Given the description of an element on the screen output the (x, y) to click on. 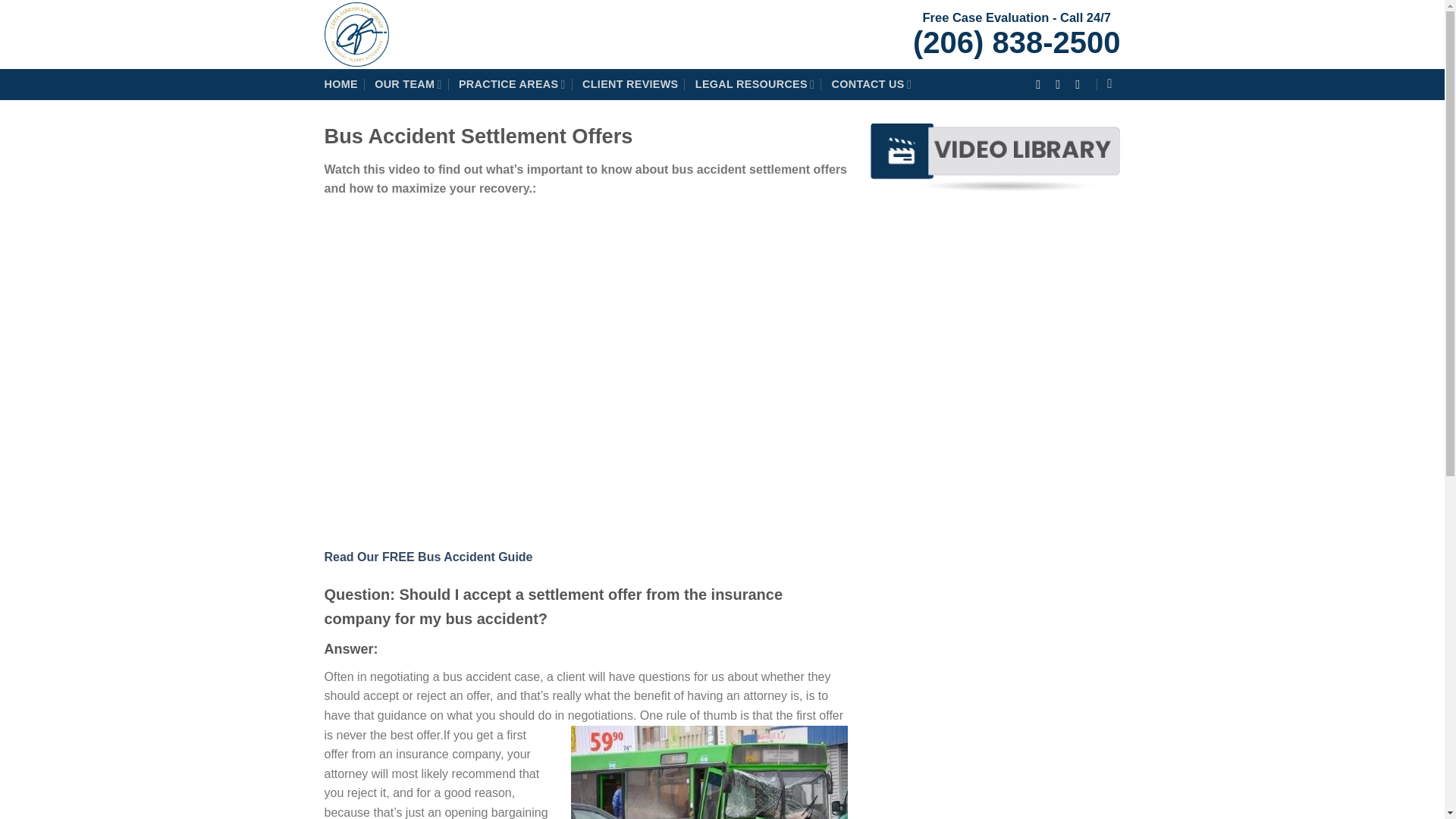
HOME (341, 83)
CLIENT REVIEWS (630, 83)
OUR TEAM (407, 84)
LEGAL RESOURCES (754, 84)
Edmonds Injury Lawyers - Certa Law Group (464, 34)
PRACTICE AREAS (512, 84)
